Given the description of an element on the screen output the (x, y) to click on. 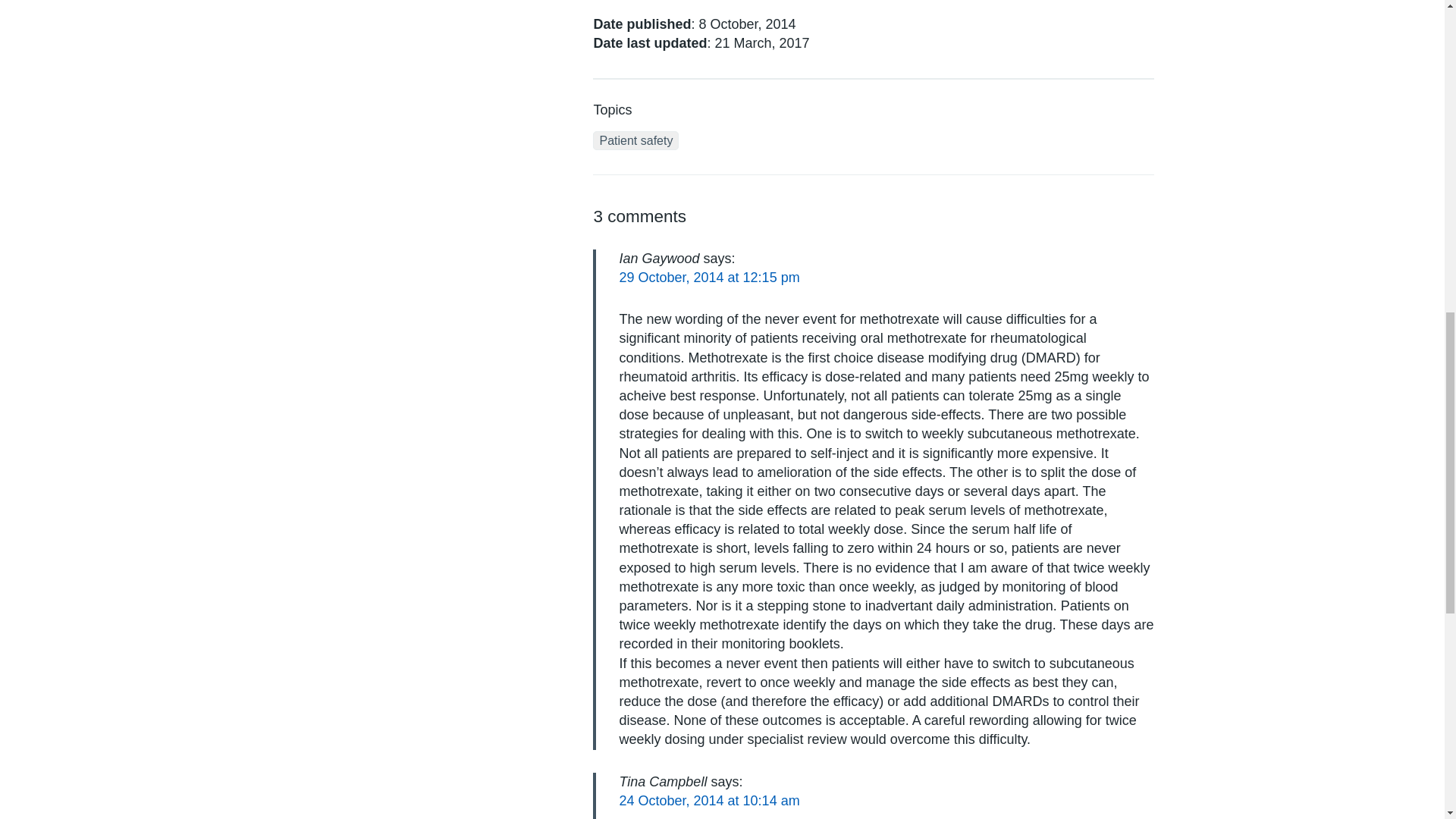
Patient safety (635, 140)
24 October, 2014 at 10:14 am (708, 800)
29 October, 2014 at 12:15 pm (708, 277)
